Given the description of an element on the screen output the (x, y) to click on. 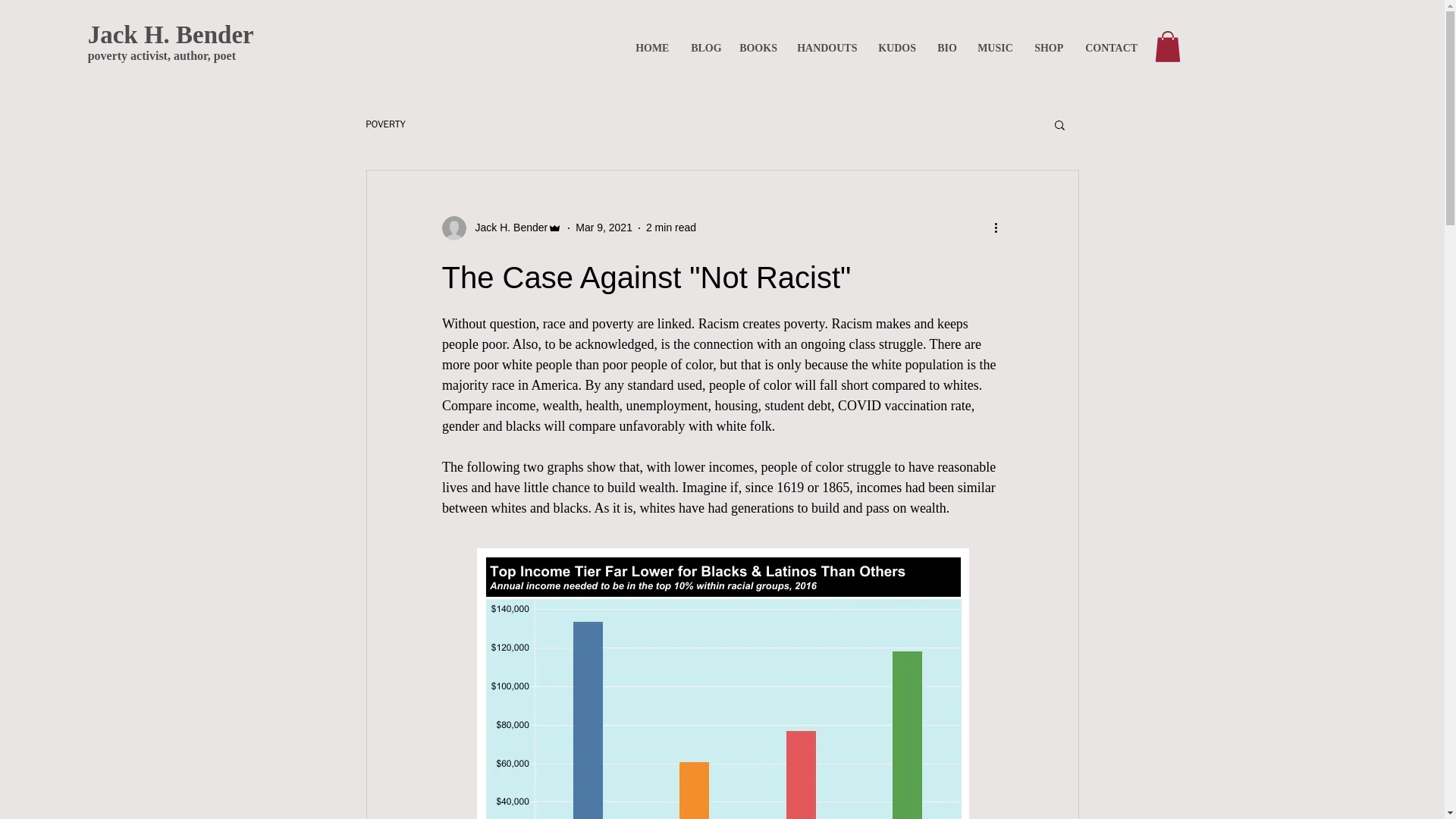
MUSIC (994, 47)
KUDOS (170, 47)
Mar 9, 2021 (896, 47)
Jack H. Bender (603, 227)
2 min read (506, 227)
BLOG (670, 227)
HOME (703, 47)
HANDOUTS (651, 47)
BIO (826, 47)
